Given the description of an element on the screen output the (x, y) to click on. 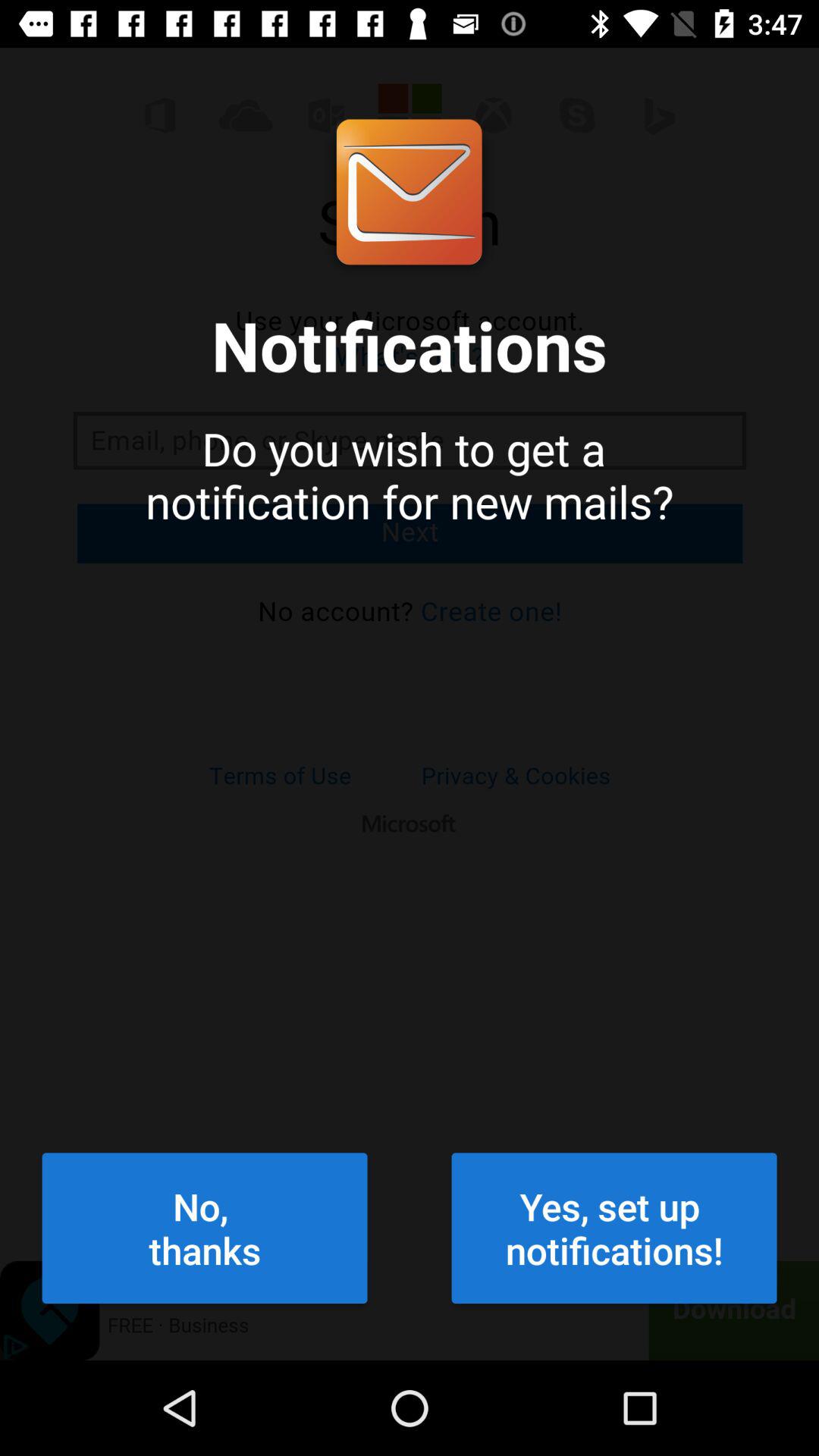
select no, 
thanks item (204, 1227)
